Given the description of an element on the screen output the (x, y) to click on. 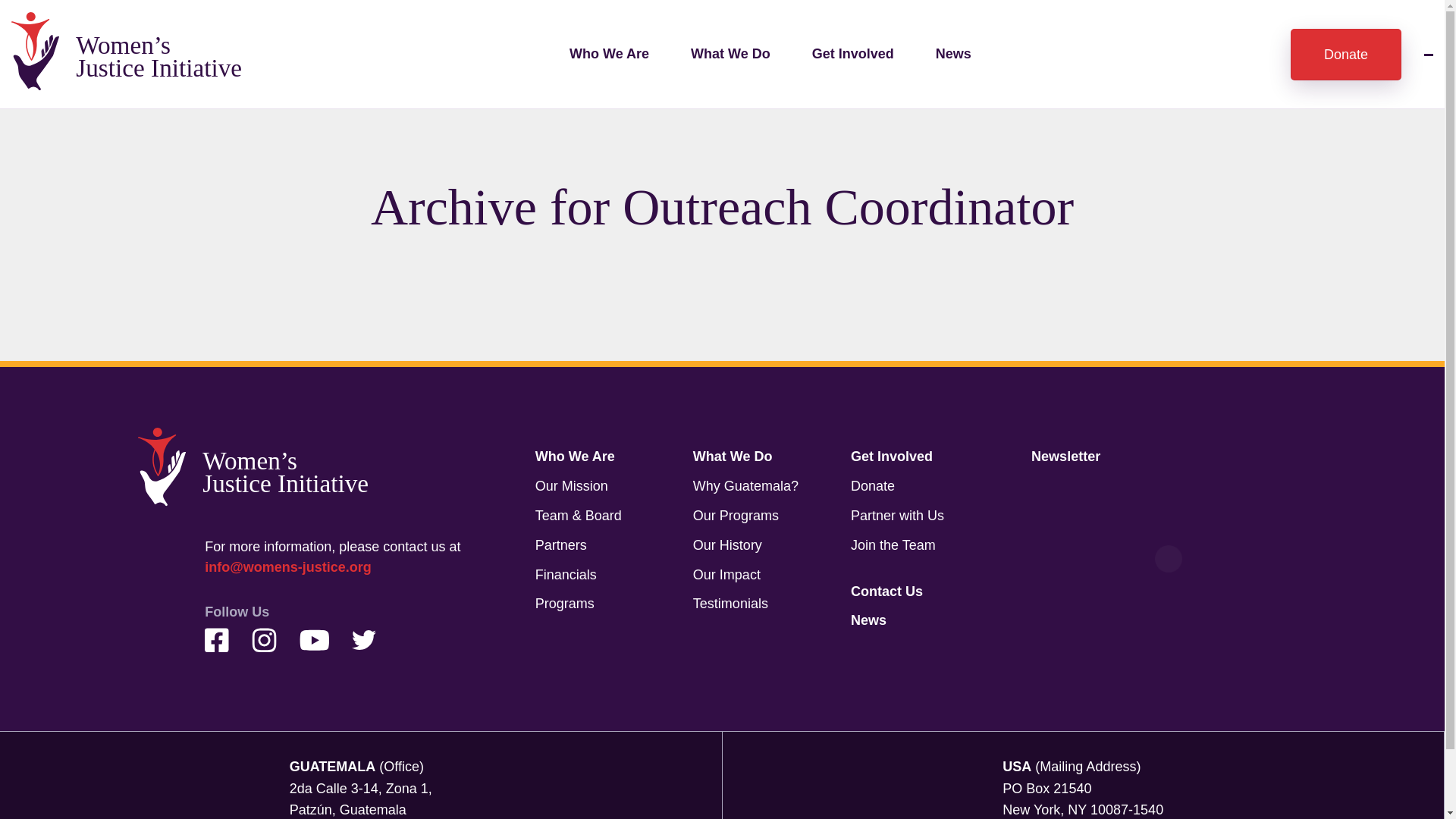
Get Involved (852, 53)
Why Guatemala? (745, 485)
Contact Us (886, 590)
News (953, 53)
Donate (872, 485)
Our Mission (571, 485)
Get Involved (891, 456)
Partner with Us (896, 515)
Donate (1345, 54)
What We Do (733, 456)
